Given the description of an element on the screen output the (x, y) to click on. 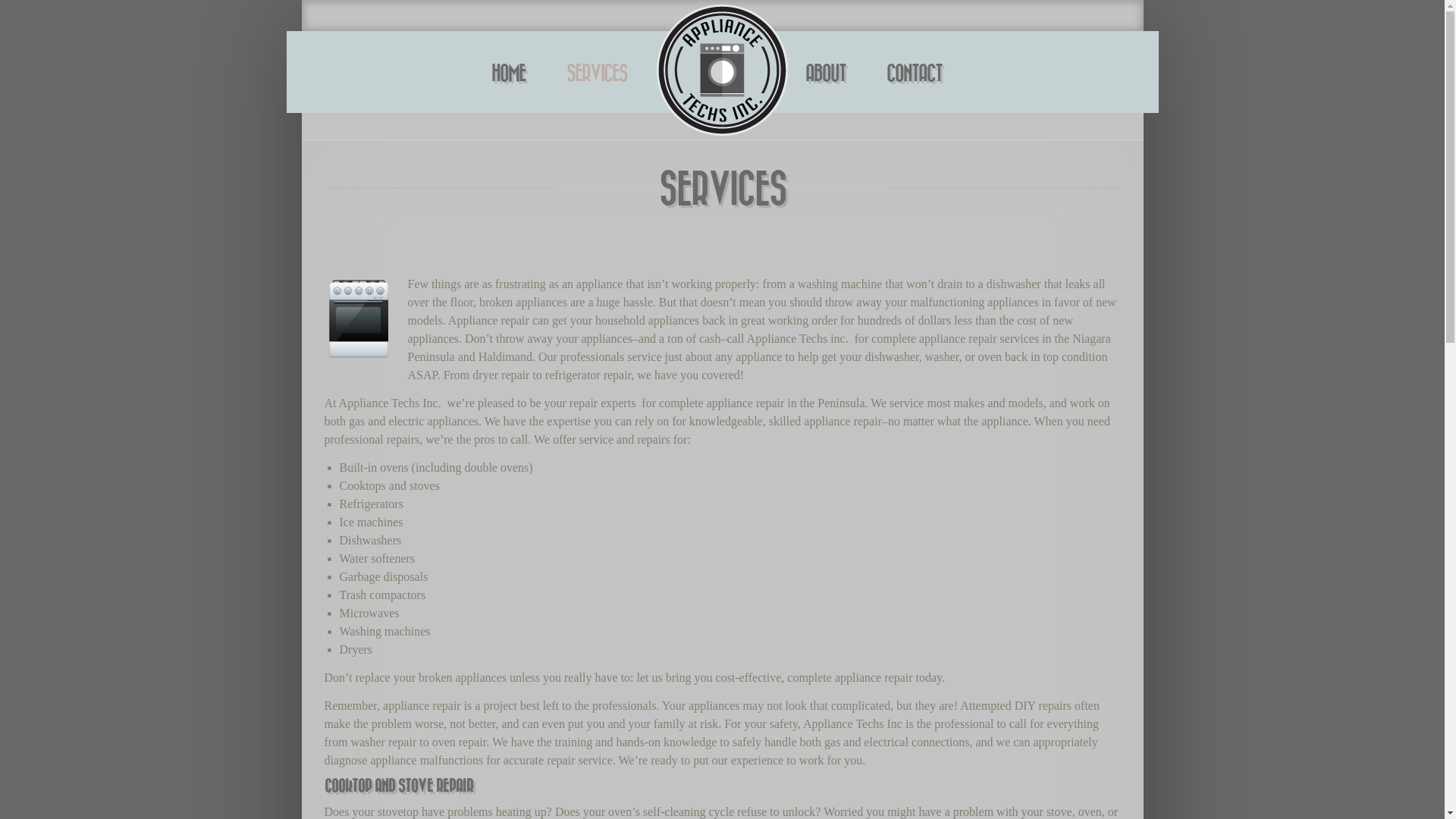
HOME Element type: text (508, 74)
ABOUT Element type: text (825, 74)
CONTACT Element type: text (913, 74)
SERVICES Element type: text (595, 74)
